Given the description of an element on the screen output the (x, y) to click on. 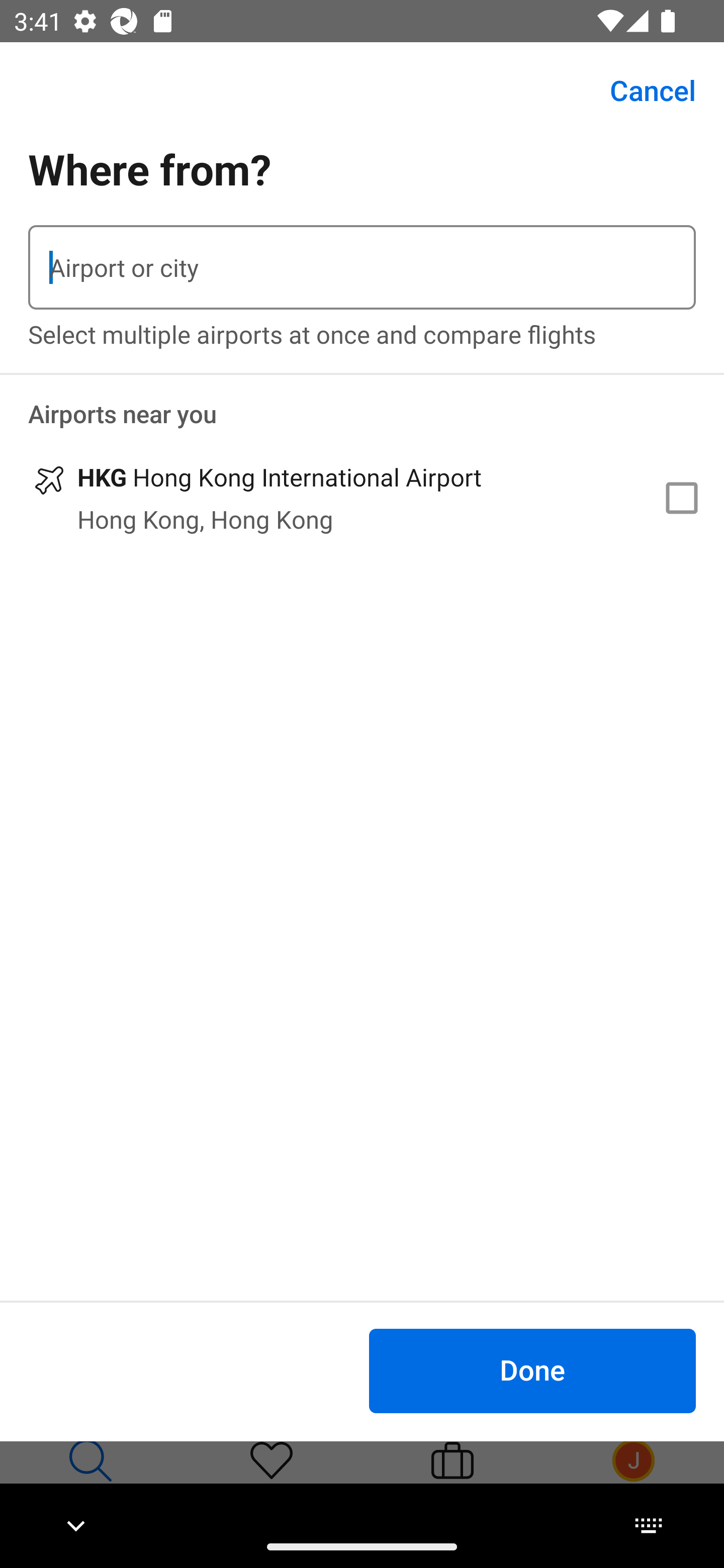
Cancel (641, 90)
Airport or city (361, 266)
Done (532, 1370)
